Given the description of an element on the screen output the (x, y) to click on. 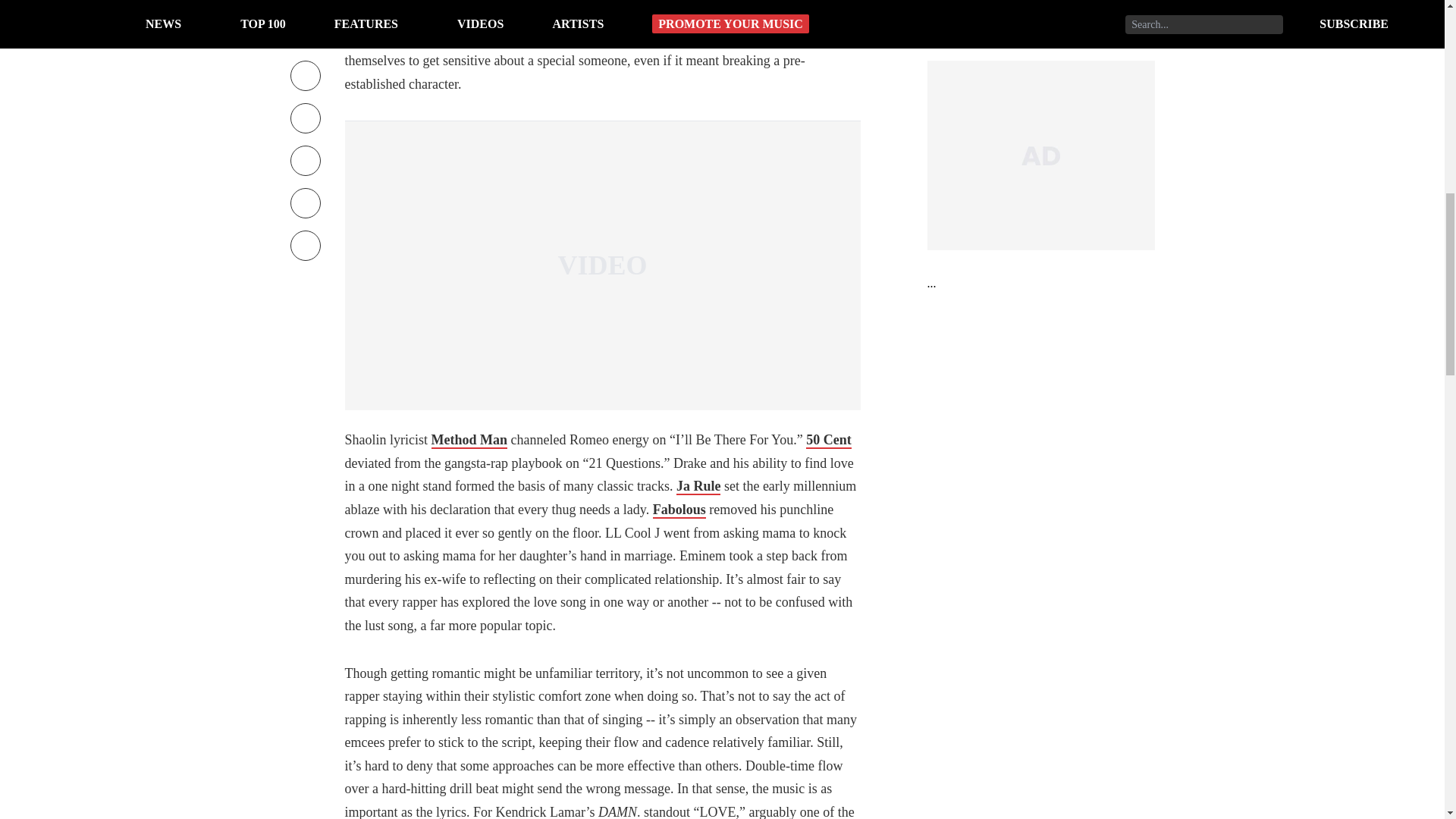
Method Man (468, 440)
Ja Rule (698, 486)
Fabolous (679, 510)
50 Cent (828, 440)
